Given the description of an element on the screen output the (x, y) to click on. 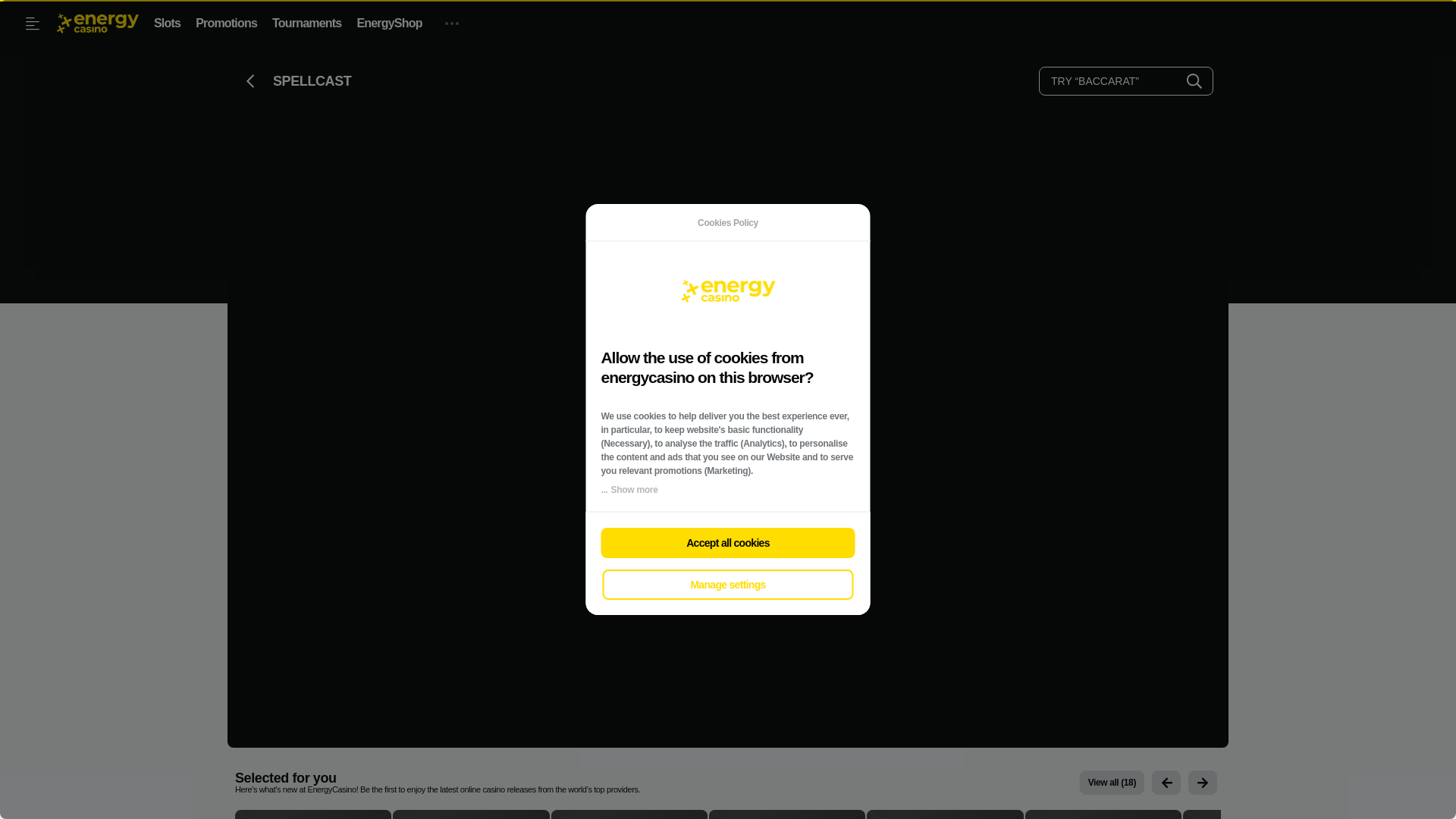
EnergyShop (389, 23)
Tournaments (306, 23)
Promotions (226, 23)
